Given the description of an element on the screen output the (x, y) to click on. 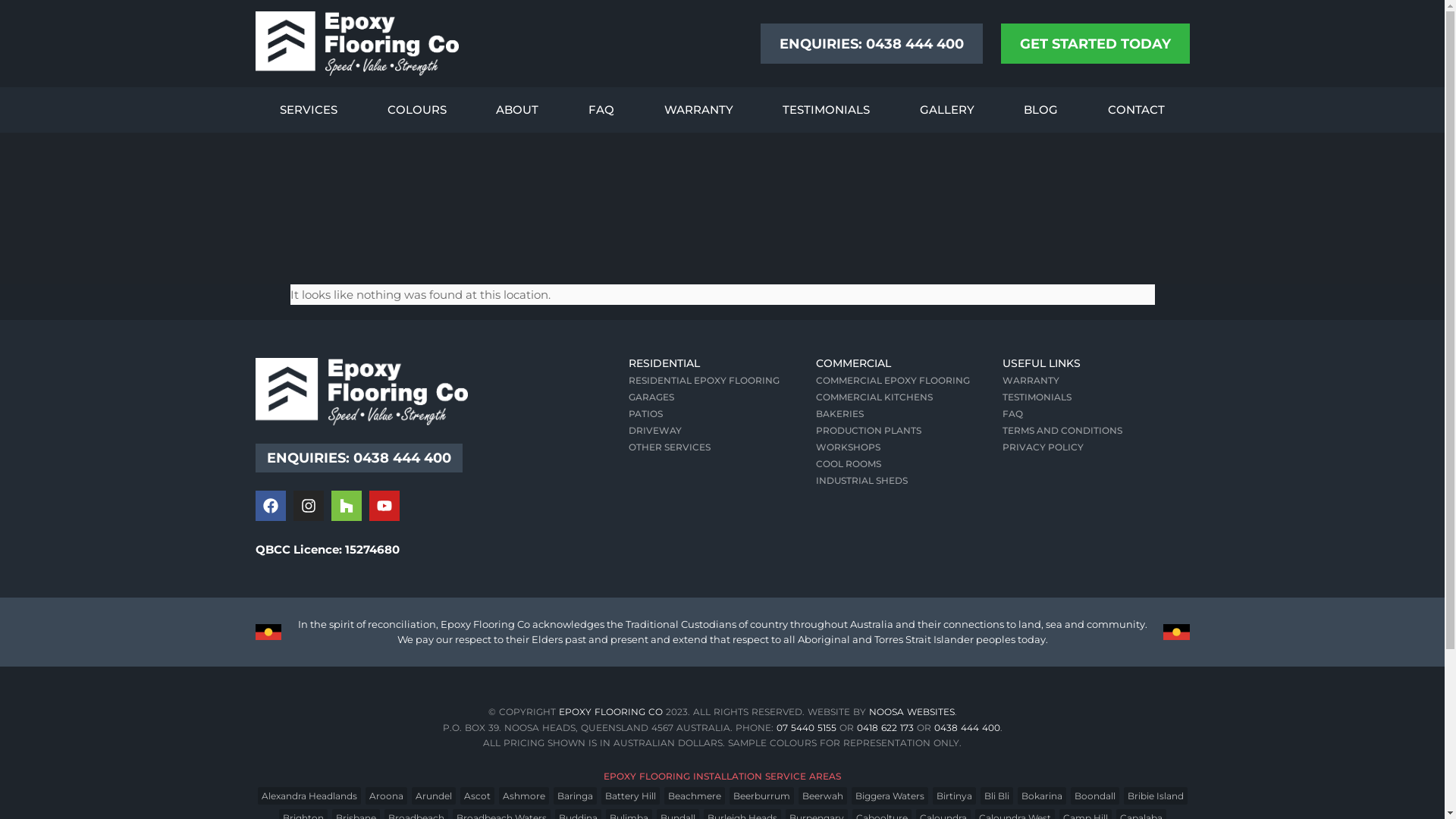
Alexandra Headlands Element type: text (308, 795)
DRIVEWAY Element type: text (721, 430)
PRIVACY POLICY Element type: text (1095, 447)
Bribie Island Element type: text (1155, 795)
SERVICES Element type: text (308, 109)
TESTIMONIALS Element type: text (1095, 397)
Arundel Element type: text (433, 795)
OTHER SERVICES Element type: text (721, 447)
Biggera Waters Element type: text (888, 795)
TESTIMONIALS Element type: text (825, 109)
Baringa Element type: text (574, 795)
ENQUIRIES: 0438 444 400 Element type: text (357, 457)
COLOURS Element type: text (416, 109)
COMMERCIAL EPOXY FLOORING Element type: text (908, 380)
NOOSA WEBSITES Element type: text (911, 711)
GARAGES Element type: text (721, 397)
GALLERY Element type: text (946, 109)
Beerburrum Element type: text (761, 795)
GET STARTED TODAY Element type: text (1095, 43)
INDUSTRIAL SHEDS Element type: text (908, 480)
COMMERCIAL KITCHENS Element type: text (908, 397)
PATIOS Element type: text (721, 413)
Bli Bli Element type: text (995, 795)
07 5440 5155 Element type: text (806, 727)
ABOUT Element type: text (517, 109)
TERMS AND CONDITIONS Element type: text (1095, 430)
WARRANTY Element type: text (698, 109)
Bokarina Element type: text (1041, 795)
Beachmere Element type: text (694, 795)
EPOXY FLOORING CO Element type: text (610, 711)
COOL ROOMS Element type: text (908, 463)
CONTACT Element type: text (1135, 109)
Battery Hill Element type: text (629, 795)
PRODUCTION PLANTS Element type: text (908, 430)
RESIDENTIAL EPOXY FLOORING Element type: text (721, 380)
Ashmore Element type: text (523, 795)
Aroona Element type: text (386, 795)
BLOG Element type: text (1040, 109)
BAKERIES Element type: text (908, 413)
FAQ Element type: text (1095, 413)
Birtinya Element type: text (953, 795)
Beerwah Element type: text (821, 795)
ENQUIRIES: 0438 444 400 Element type: text (870, 43)
WORKSHOPS Element type: text (908, 447)
WARRANTY Element type: text (1095, 380)
Ascot Element type: text (476, 795)
FAQ Element type: text (601, 109)
0418 622 173 Element type: text (884, 727)
0438 444 400 Element type: text (967, 727)
Boondall Element type: text (1094, 795)
